Given the description of an element on the screen output the (x, y) to click on. 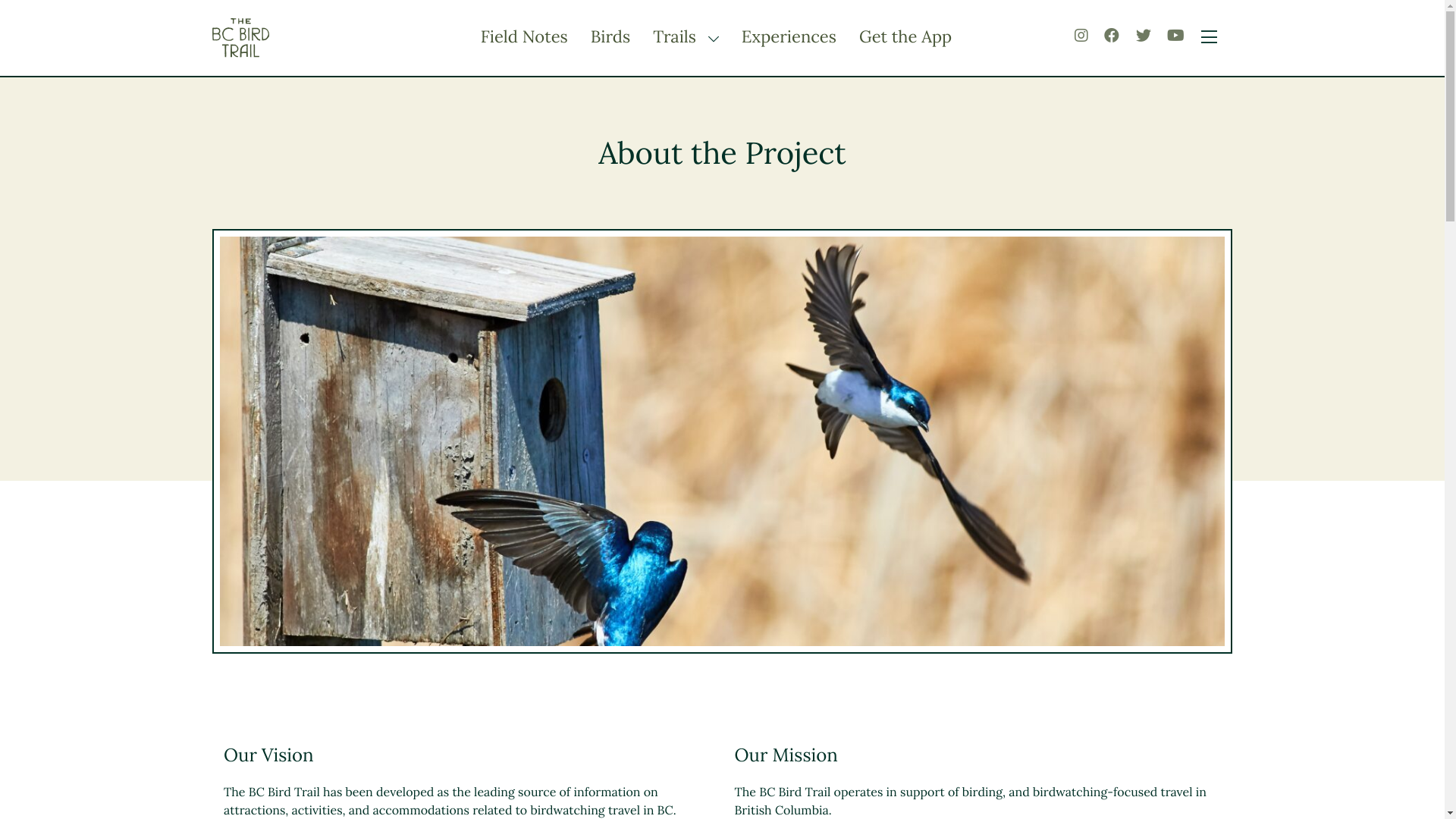
Trails Element type: text (676, 36)
Experiences Element type: text (788, 36)
Field Notes Element type: text (523, 36)
BC Bird Trail Twitter Account Element type: hover (1143, 35)
BC Bird Trail Youtube Account Element type: hover (1175, 35)
Get the App Element type: text (905, 36)
BC Bird Trail Instagram Account Element type: hover (1081, 35)
Birds Element type: text (610, 36)
BC Bird Trail Facebook Account Element type: hover (1111, 35)
TOGGLE DROPDOWN Element type: text (709, 38)
